Given the description of an element on the screen output the (x, y) to click on. 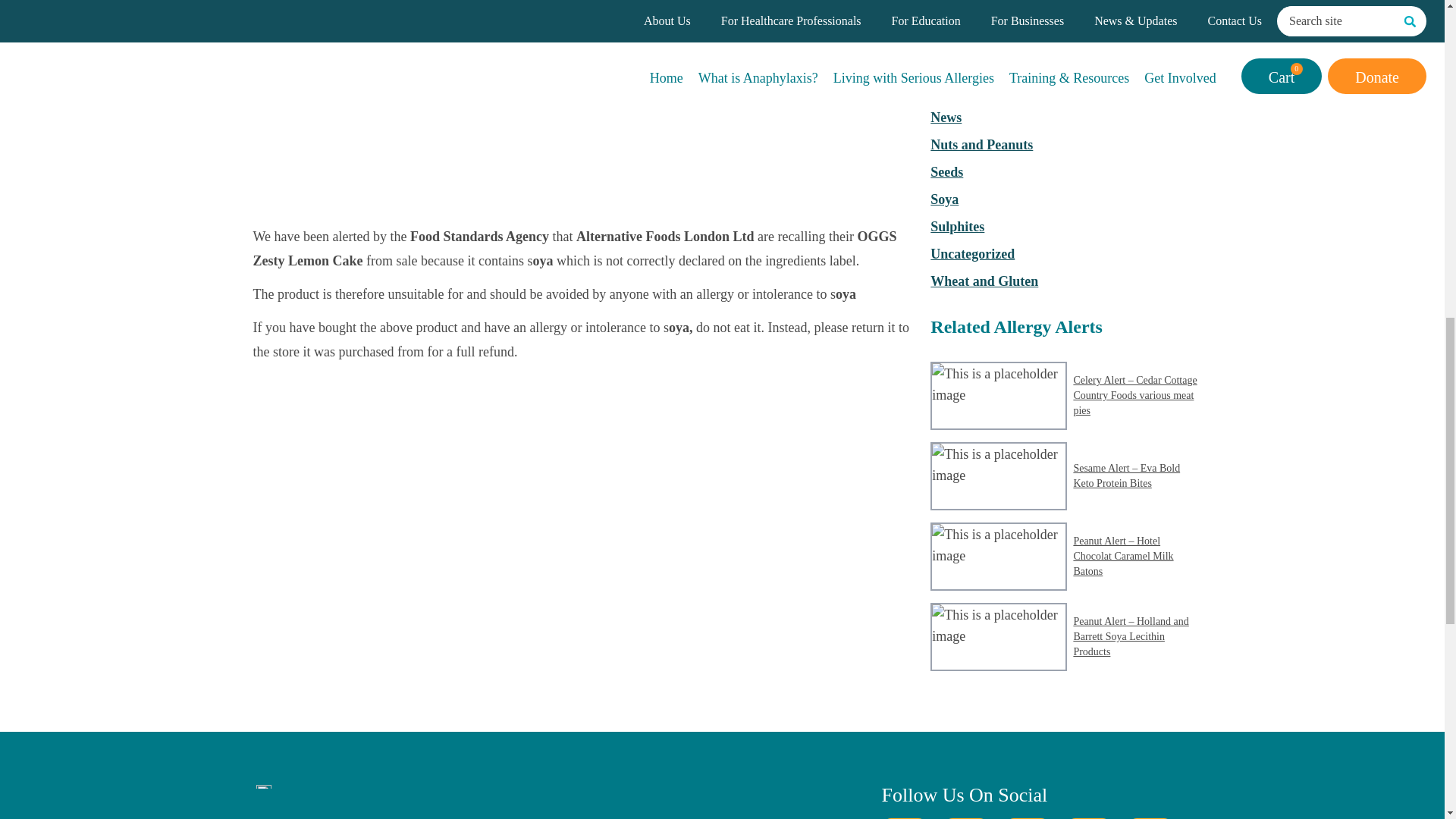
Linked In (1088, 818)
Instagram (1026, 818)
Youtube (1149, 818)
Twitter (965, 818)
Facebook (903, 818)
